Given the description of an element on the screen output the (x, y) to click on. 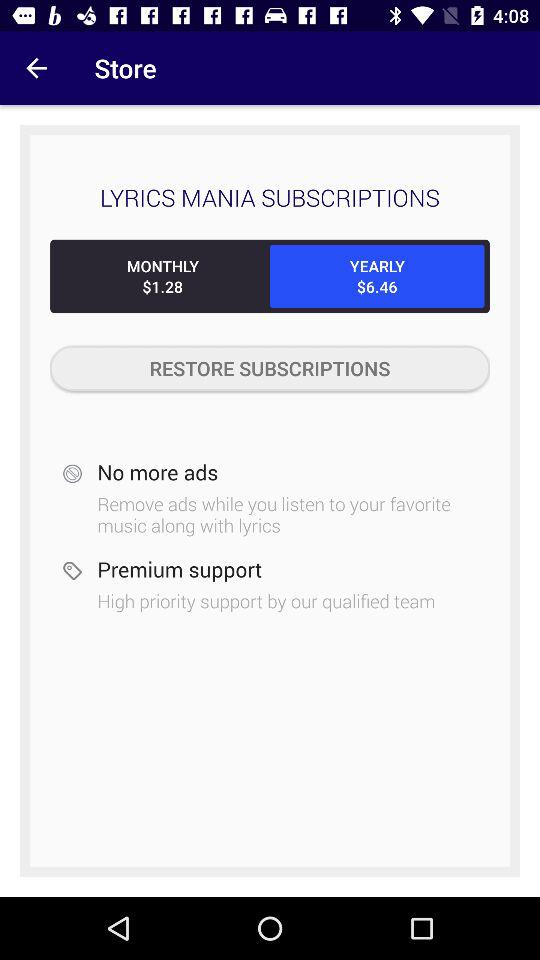
turn off the icon below lyrics mania subscriptions icon (377, 275)
